Given the description of an element on the screen output the (x, y) to click on. 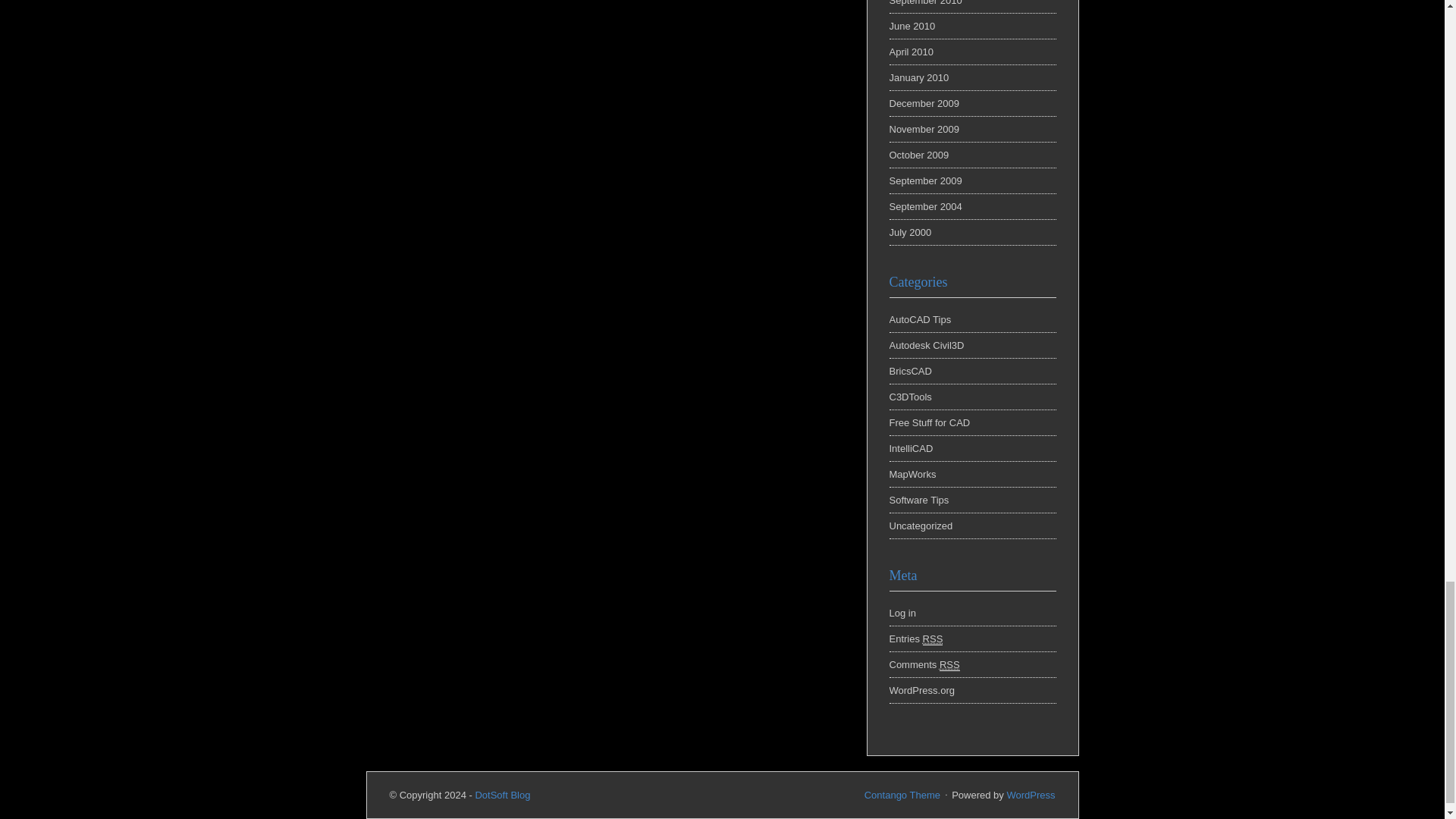
WordPress (1030, 794)
Really Simple Syndication (933, 639)
Contango Theme (902, 794)
Really Simple Syndication (949, 664)
Issues related to Autodesk's Civil3D product (925, 345)
